Given the description of an element on the screen output the (x, y) to click on. 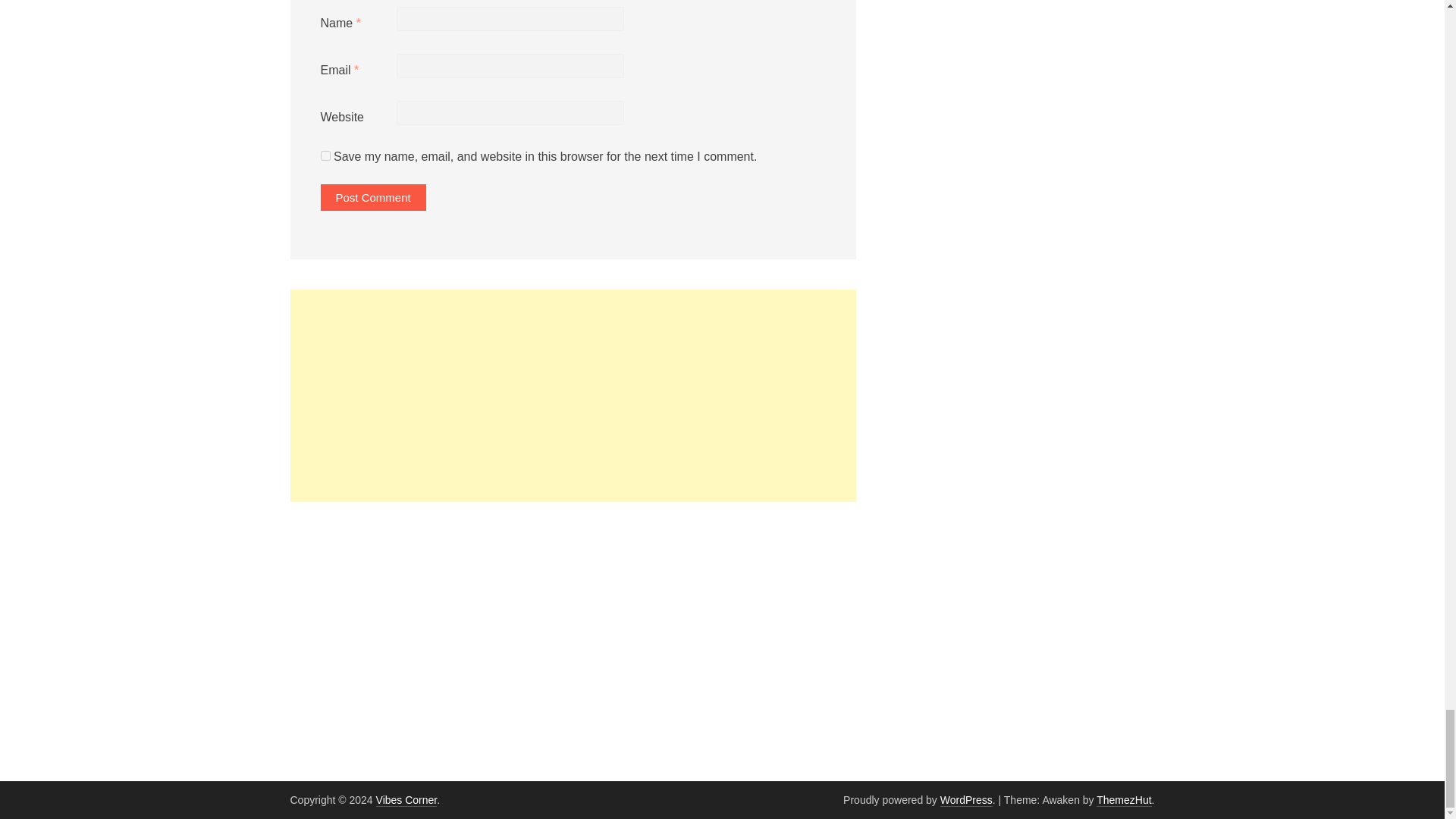
Vibes Corner (406, 799)
Vibes Corner (406, 799)
WordPress (966, 799)
yes (325, 155)
Post Comment (372, 197)
ThemezHut (1123, 799)
WordPress (966, 799)
Post Comment (372, 197)
